Given the description of an element on the screen output the (x, y) to click on. 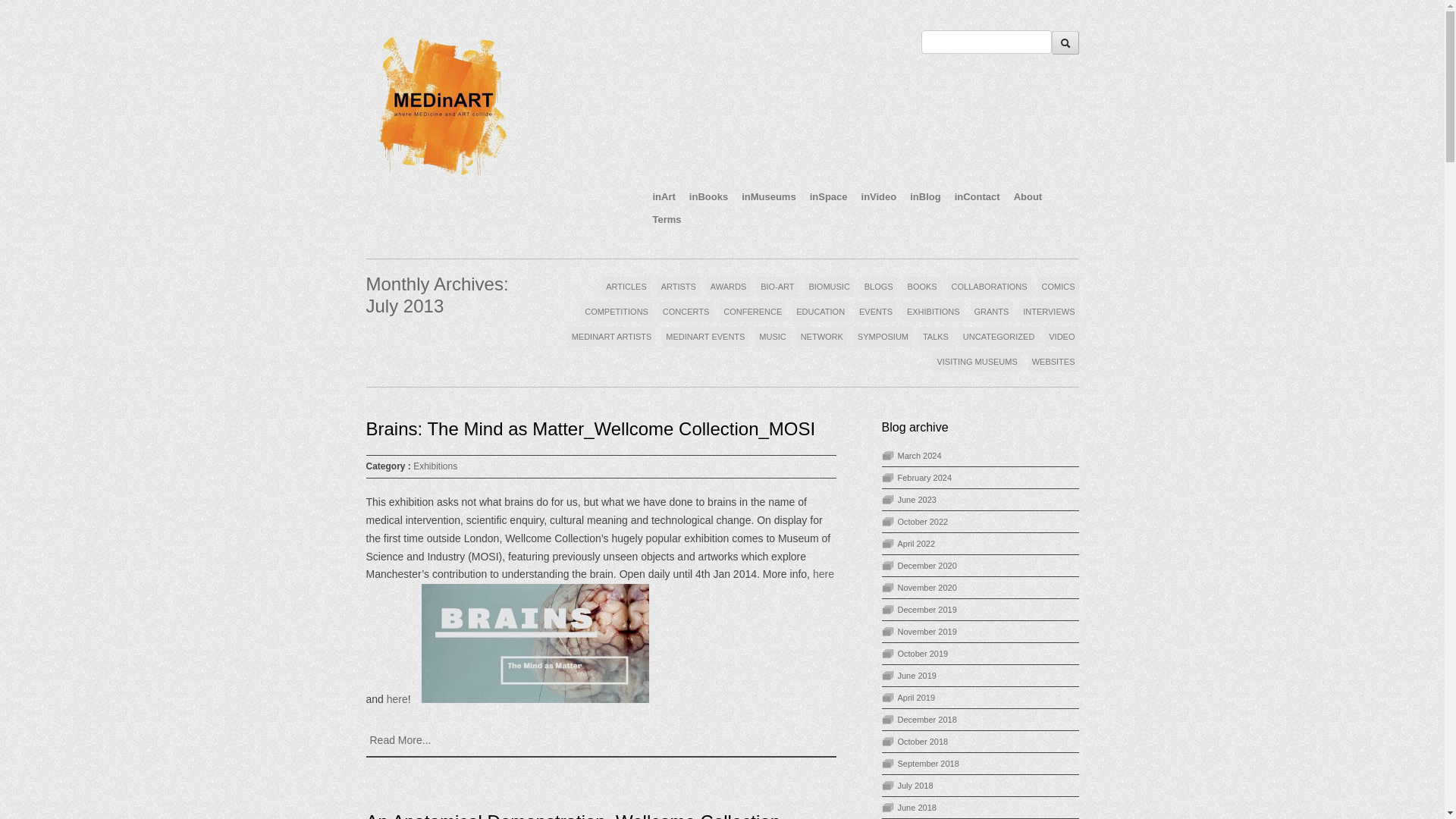
Conference (752, 311)
MEDINART EVENTS (705, 336)
GRANTS (992, 311)
MUSIC (772, 336)
COLLABORATIONS (988, 286)
Exhibitions (932, 311)
inSpace (828, 196)
COMICS (1057, 286)
VIDEO (1061, 336)
VISITING MUSEUMS (976, 361)
WEBSITES (1052, 361)
BLOGS (878, 286)
TALKS (935, 336)
Competitions (616, 311)
BIO-ART (777, 286)
